Given the description of an element on the screen output the (x, y) to click on. 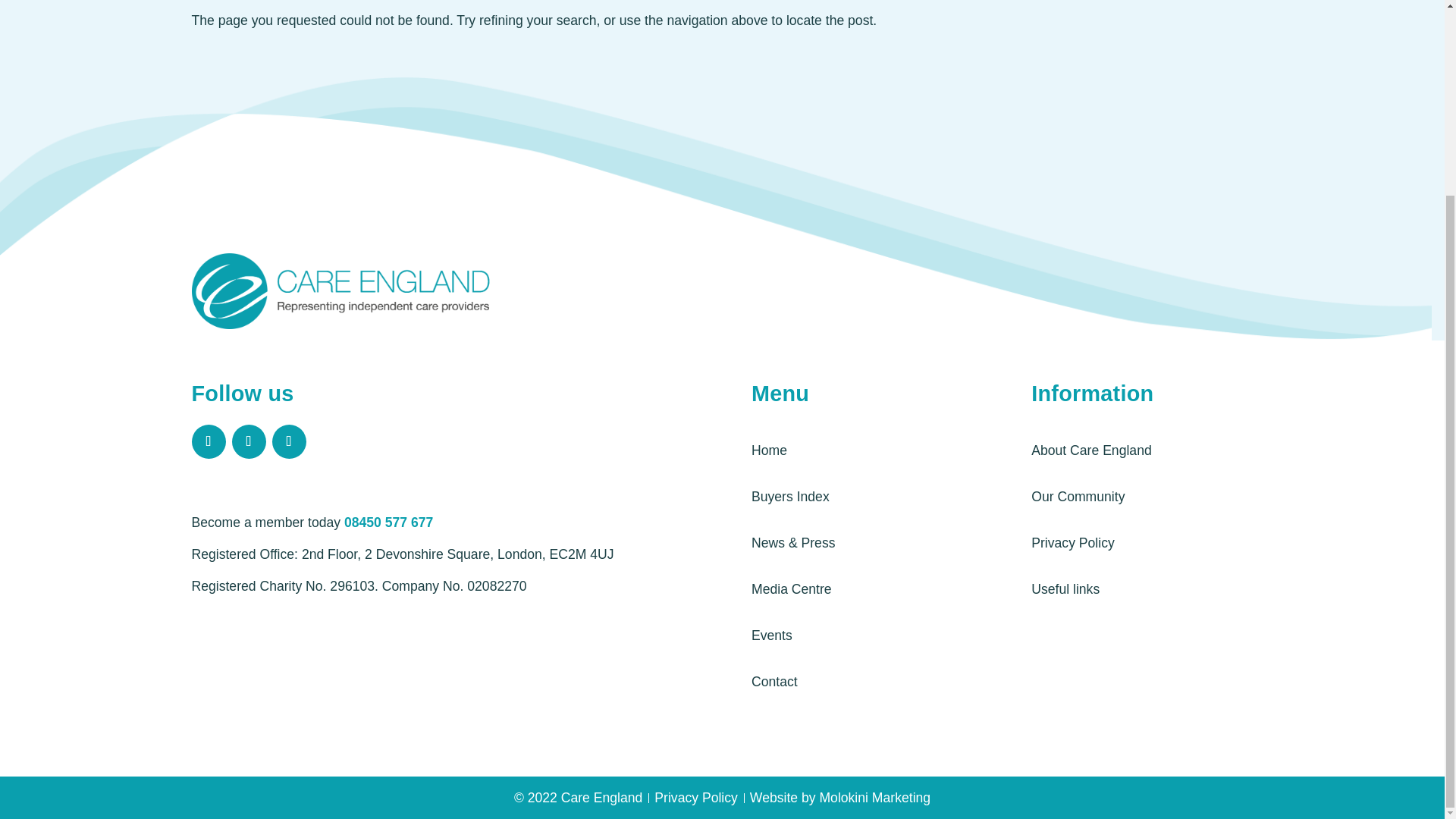
Events (771, 635)
Buyers Index (790, 496)
08450 577 677 (387, 522)
About Care England (1090, 450)
care-england-logo-col (342, 297)
Follow on X (207, 441)
Contact (774, 681)
Media Centre (791, 589)
Follow on LinkedIn (287, 441)
Follow on Youtube (248, 441)
